Given the description of an element on the screen output the (x, y) to click on. 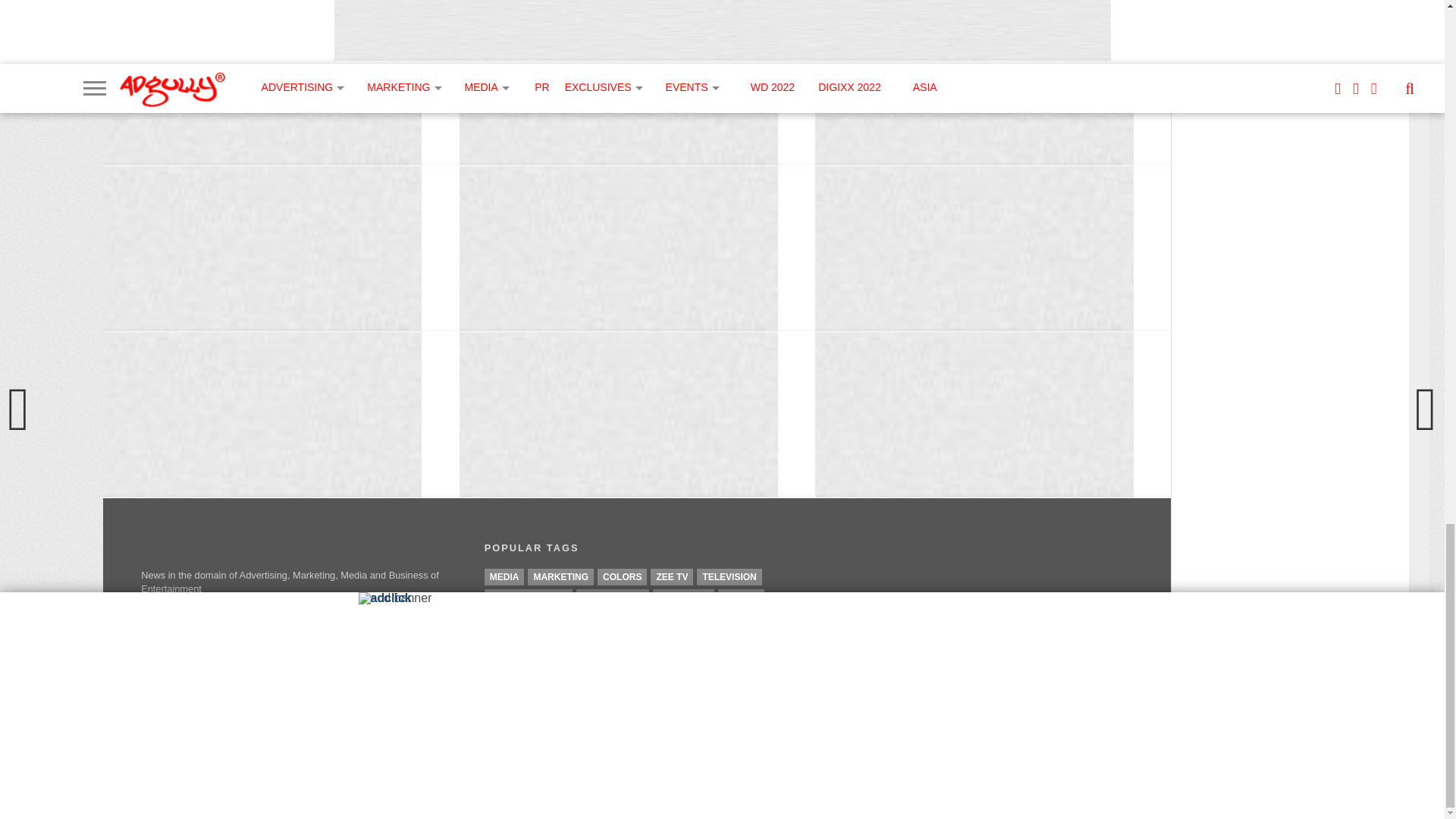
Star Plus (683, 597)
Entertainment (528, 597)
Digital (740, 597)
Zee TV (671, 576)
Advertising (612, 597)
Colors (621, 576)
Media (504, 576)
Marketing (560, 576)
Television (729, 576)
